Given the description of an element on the screen output the (x, y) to click on. 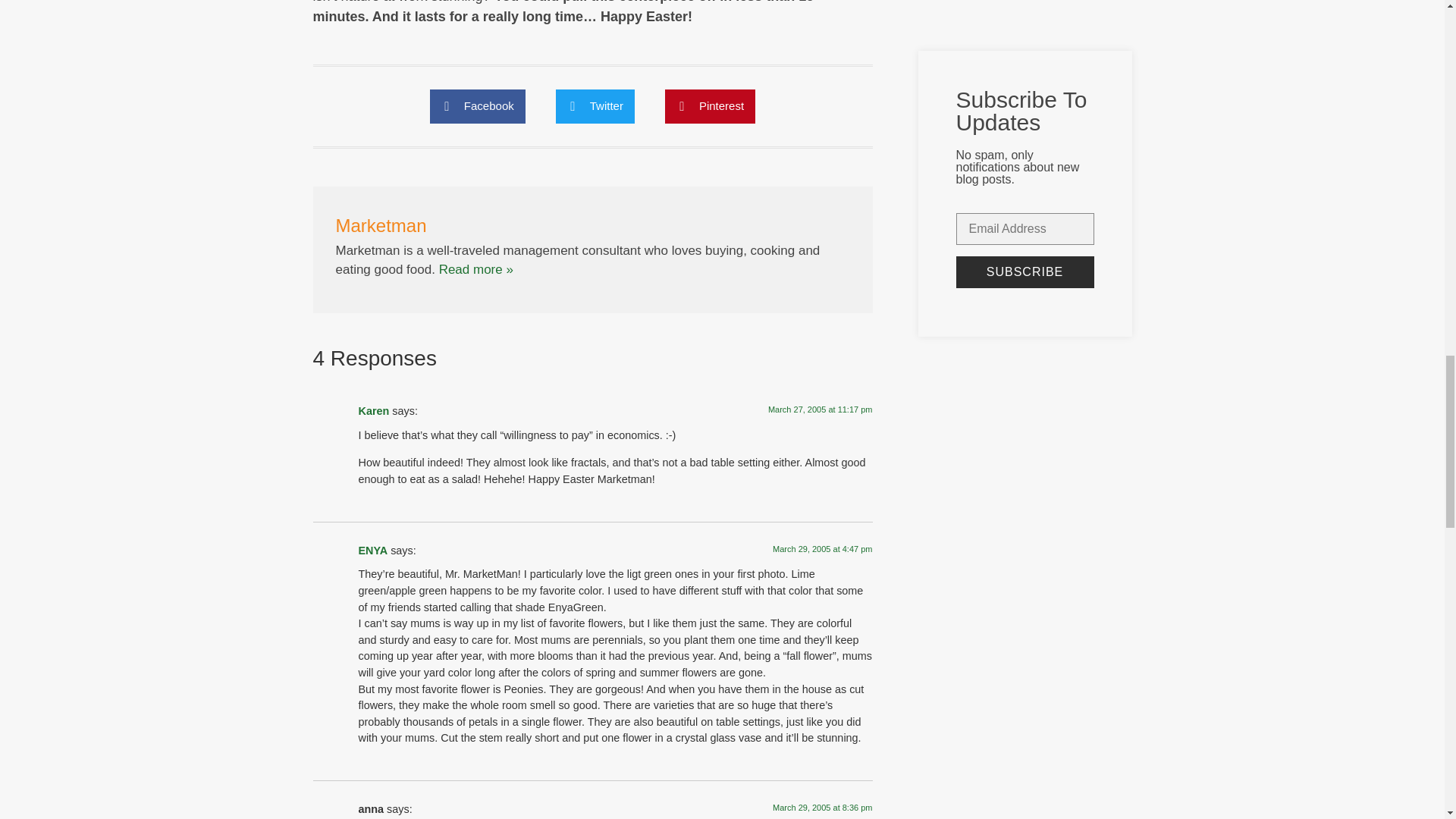
March 29, 2005 at 4:47 pm (822, 548)
March 29, 2005 at 8:36 pm (822, 807)
Karen (373, 410)
ENYA (372, 550)
March 27, 2005 at 11:17 pm (820, 409)
